Given the description of an element on the screen output the (x, y) to click on. 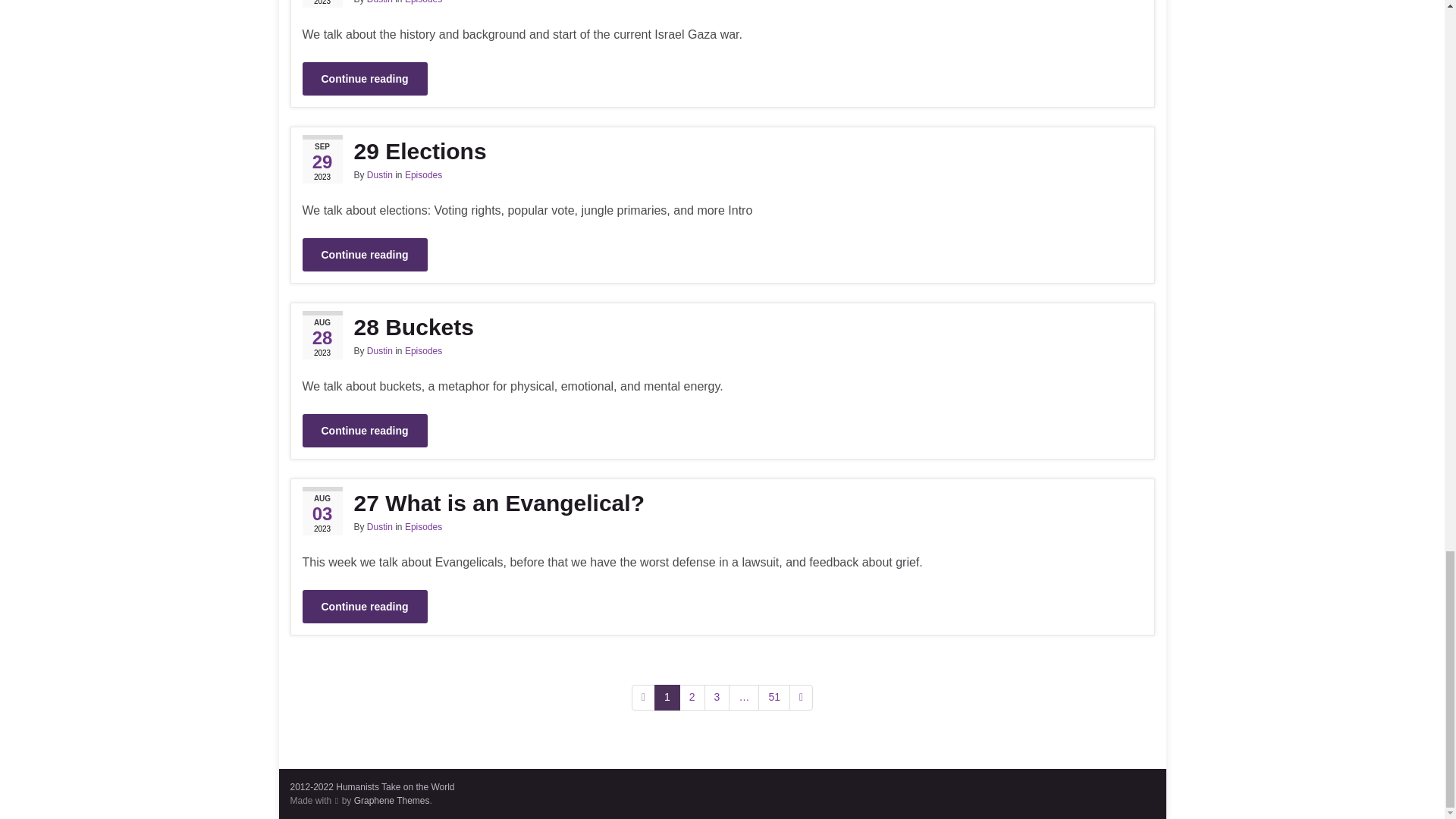
Permalink to 27 What is an Evangelical? (721, 503)
Permalink to 28 Buckets (721, 327)
Permalink to 29 Elections (721, 151)
